Given the description of an element on the screen output the (x, y) to click on. 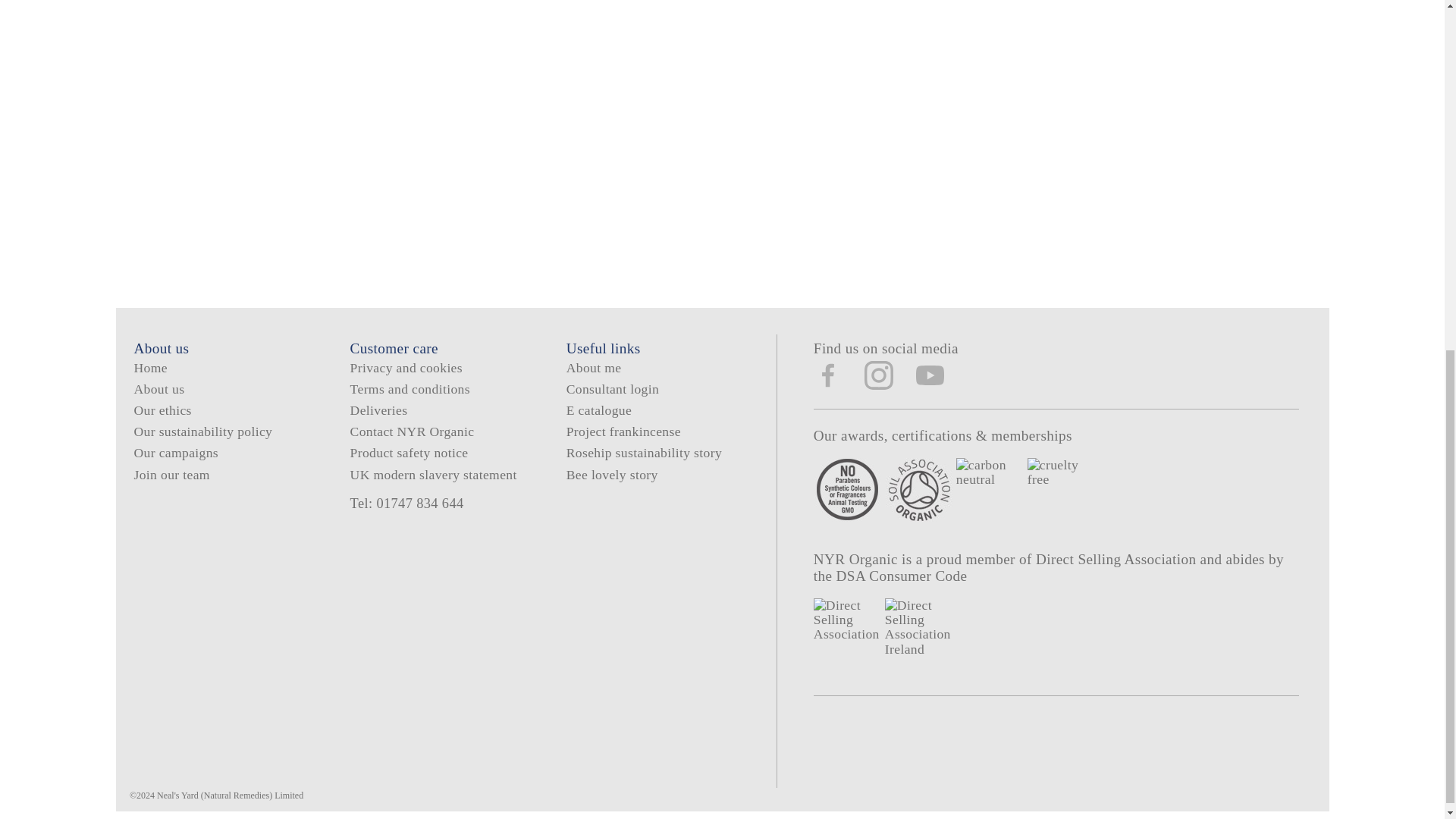
Privacy and cookies (406, 367)
Facebook (828, 375)
Deliveries (378, 409)
About us (158, 388)
youtube (929, 377)
Contact us (412, 431)
Join our team (171, 474)
Terms and conditions (410, 388)
Instagram (878, 375)
Find out more (175, 452)
